Given the description of an element on the screen output the (x, y) to click on. 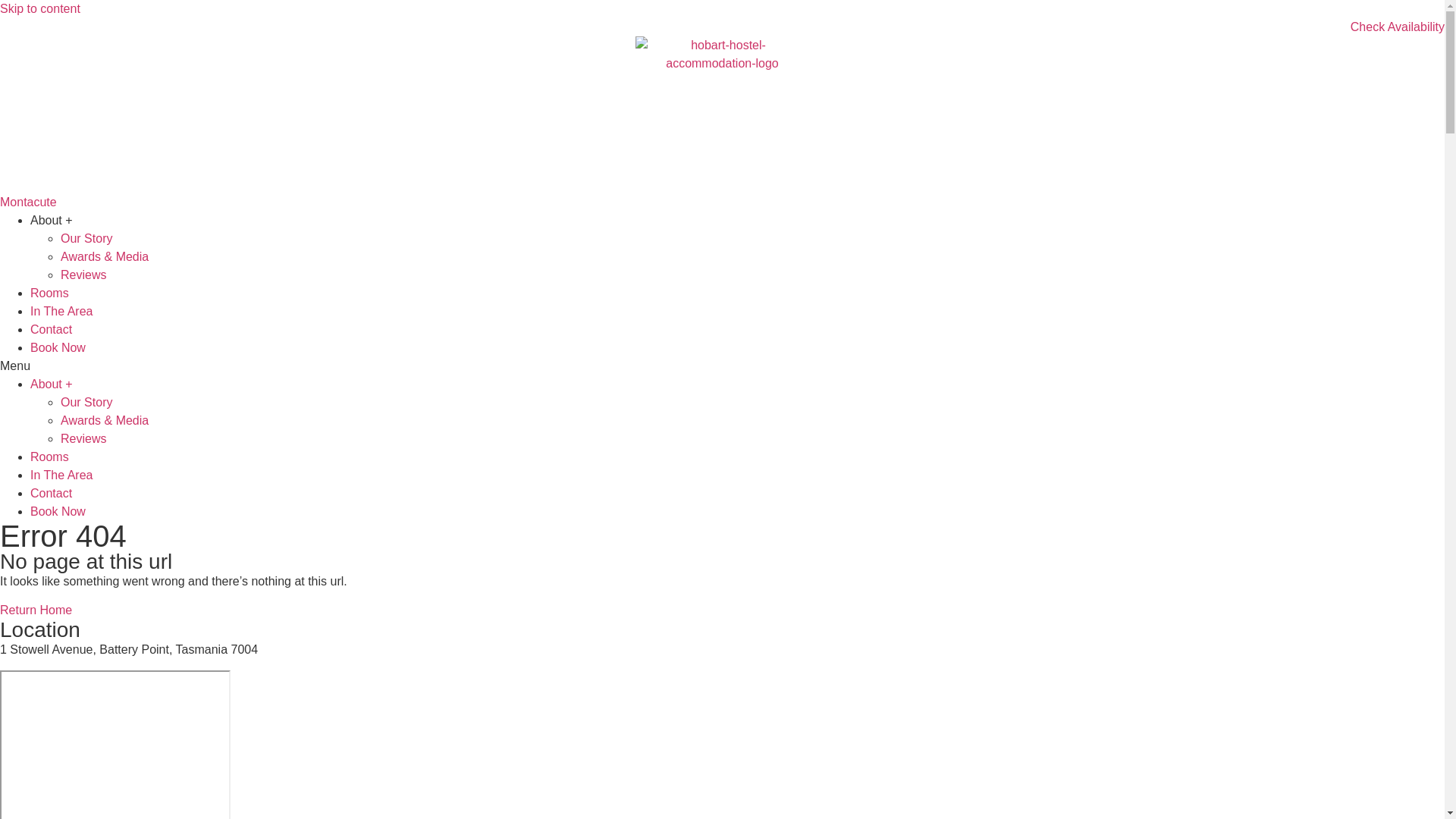
Reviews Element type: text (83, 274)
In The Area Element type: text (61, 474)
Our Story Element type: text (86, 401)
Contact Element type: text (51, 492)
Contact Element type: text (51, 329)
Awards & Media Element type: text (104, 256)
In The Area Element type: text (61, 310)
Rooms Element type: text (49, 456)
Rooms Element type: text (49, 292)
Awards & Media Element type: text (104, 420)
Reviews Element type: text (83, 438)
About + Element type: text (51, 383)
Return Home Element type: text (36, 609)
Book Now Element type: text (57, 511)
Book Now Element type: text (57, 347)
Check Availability Element type: text (722, 27)
Our Story Element type: text (86, 238)
Skip to content Element type: text (40, 8)
Montacute Element type: text (722, 202)
About + Element type: text (51, 219)
